Given the description of an element on the screen output the (x, y) to click on. 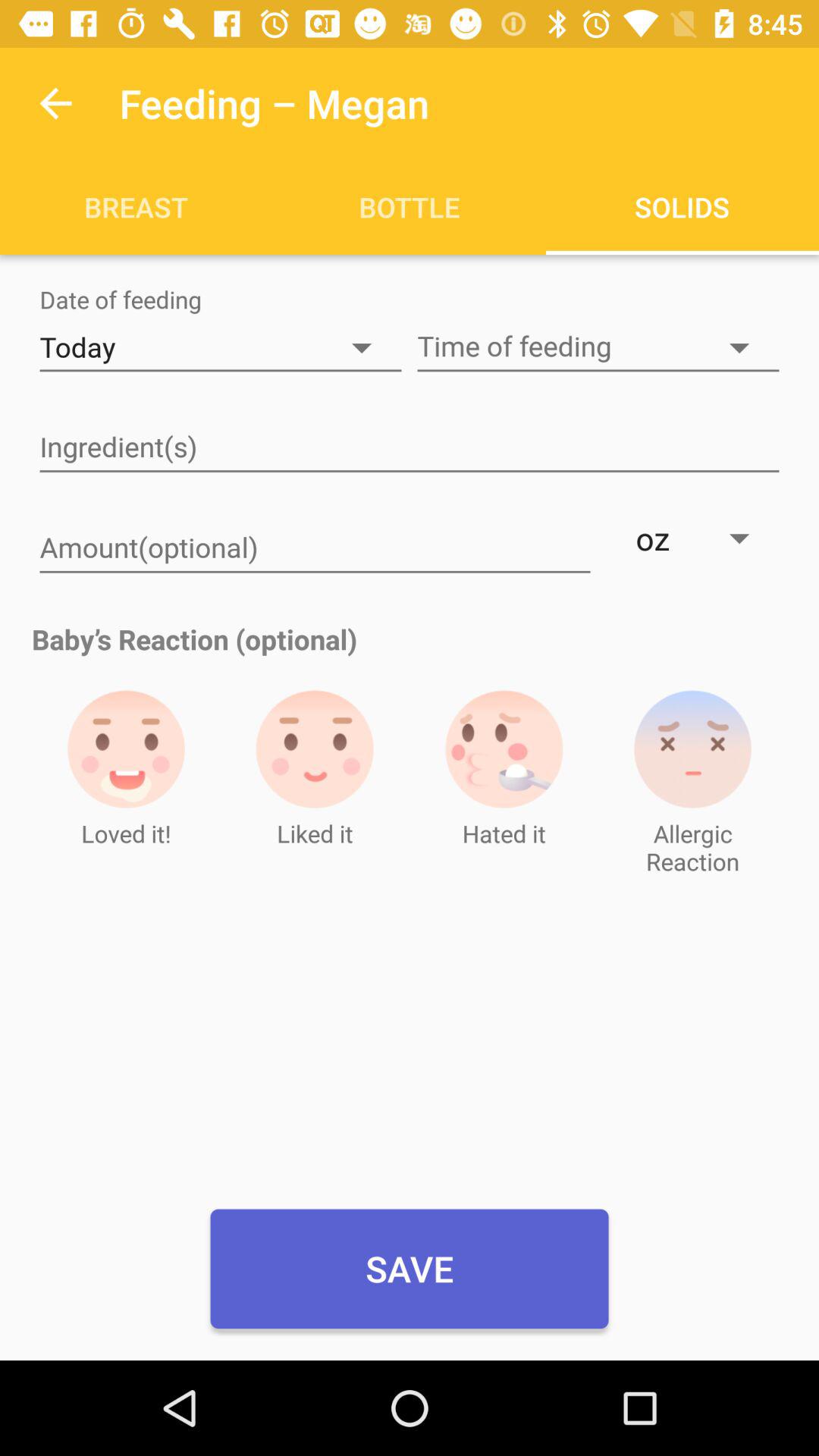
enter the time (598, 347)
